Given the description of an element on the screen output the (x, y) to click on. 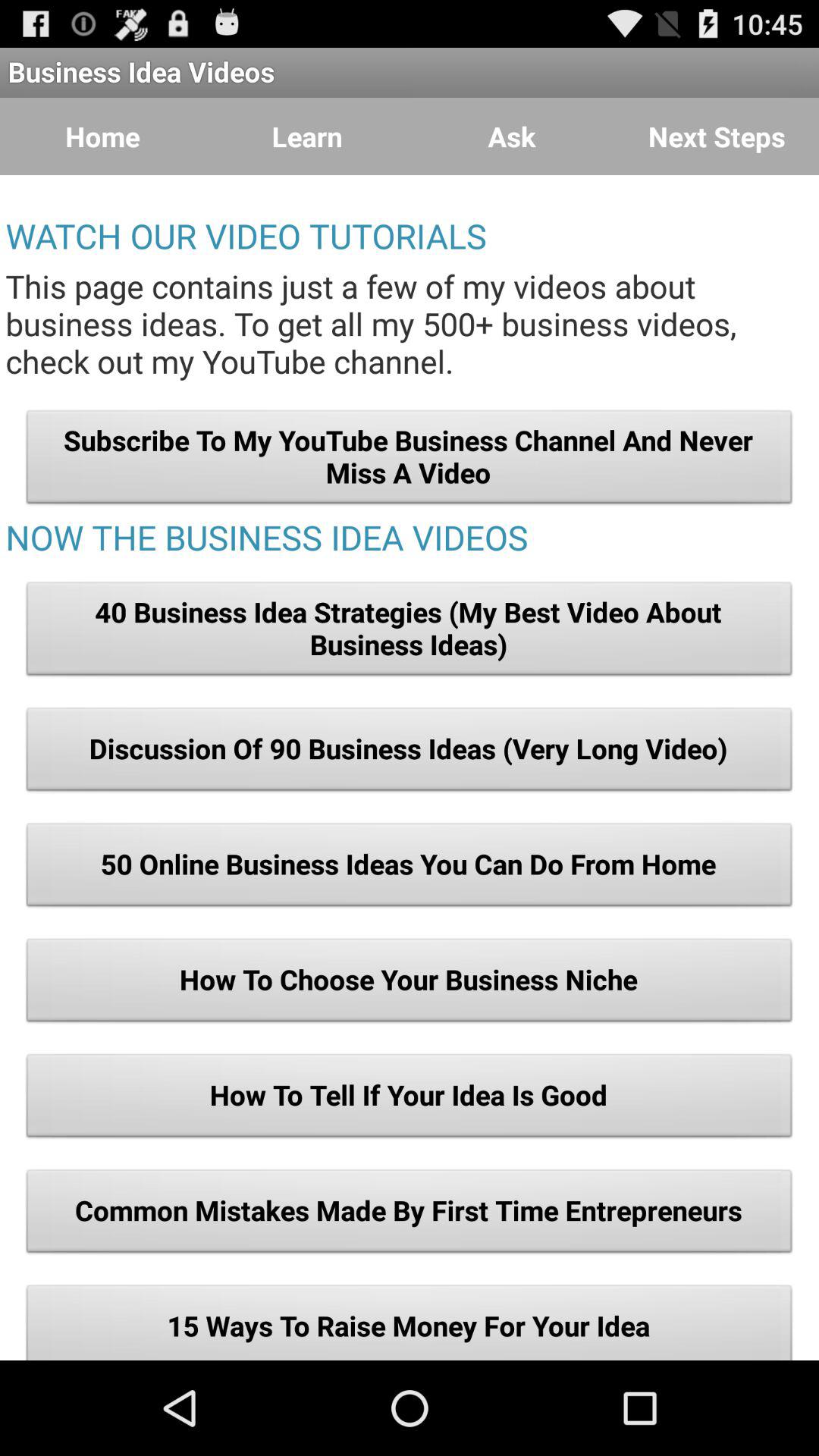
jump to common mistakes made item (409, 1215)
